Given the description of an element on the screen output the (x, y) to click on. 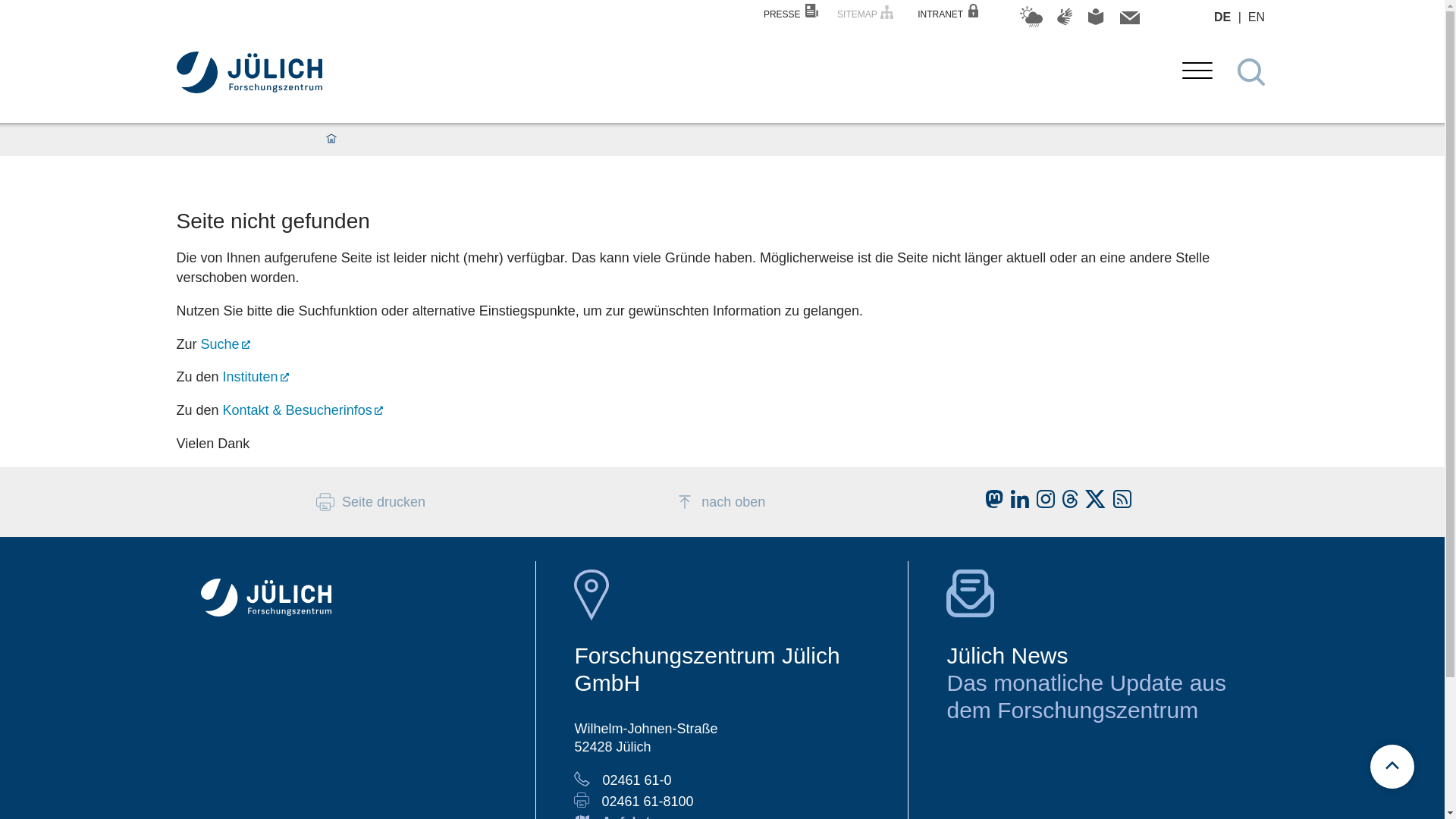
Intranet (947, 14)
INTRANET   (947, 14)
nach oben (721, 493)
Sitemap (866, 12)
Search (1252, 72)
Kontakt (1128, 20)
nach oben (720, 501)
Anfahrt (625, 816)
nach oben (721, 493)
Startseite (330, 139)
Leichte Sprache (1095, 22)
Seite drucken (370, 501)
Instituten (255, 376)
PRESSE   (790, 14)
SITEMAP   (866, 12)
